Given the description of an element on the screen output the (x, y) to click on. 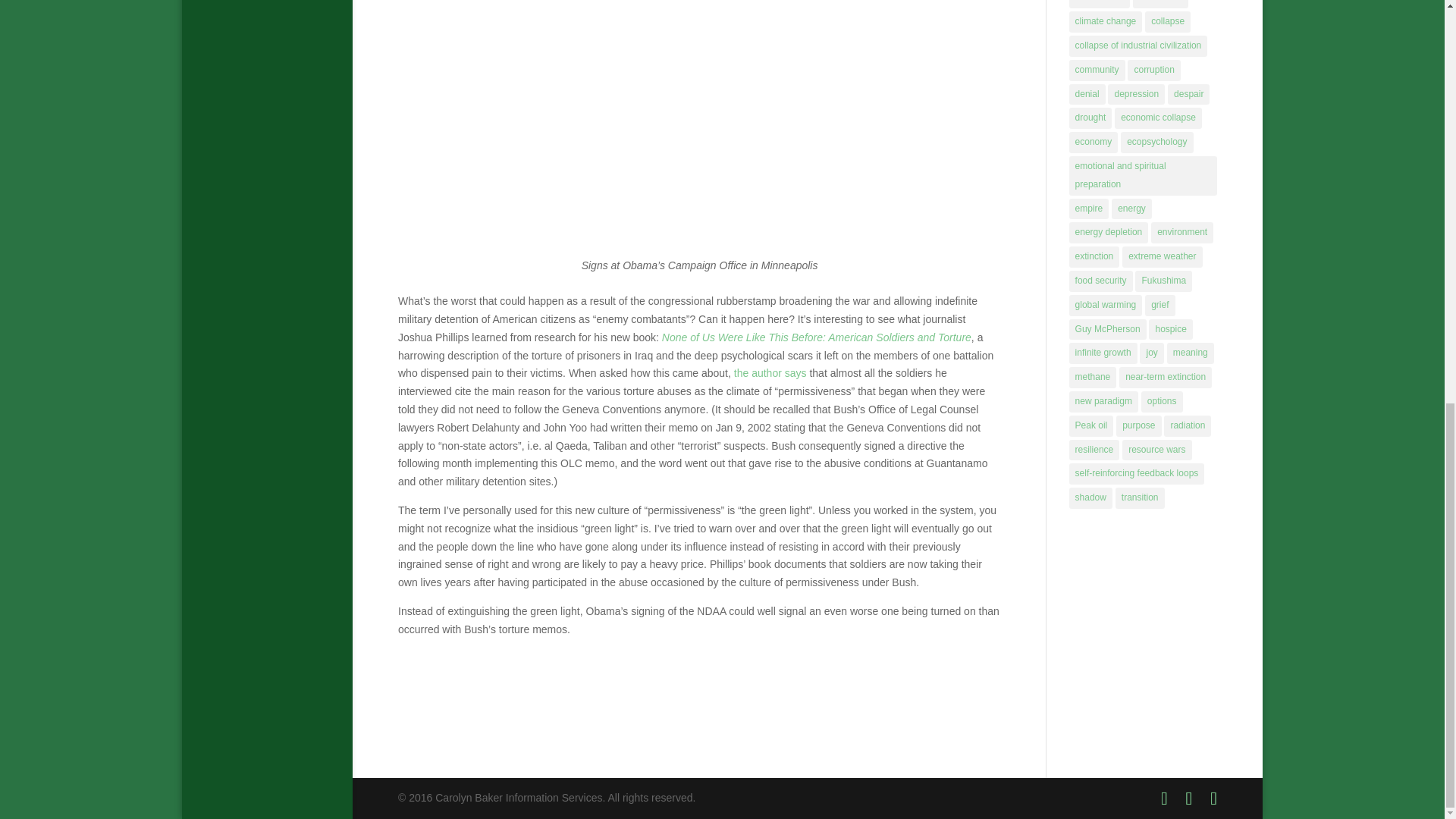
civil liberties (1099, 4)
the author says (769, 372)
